Given the description of an element on the screen output the (x, y) to click on. 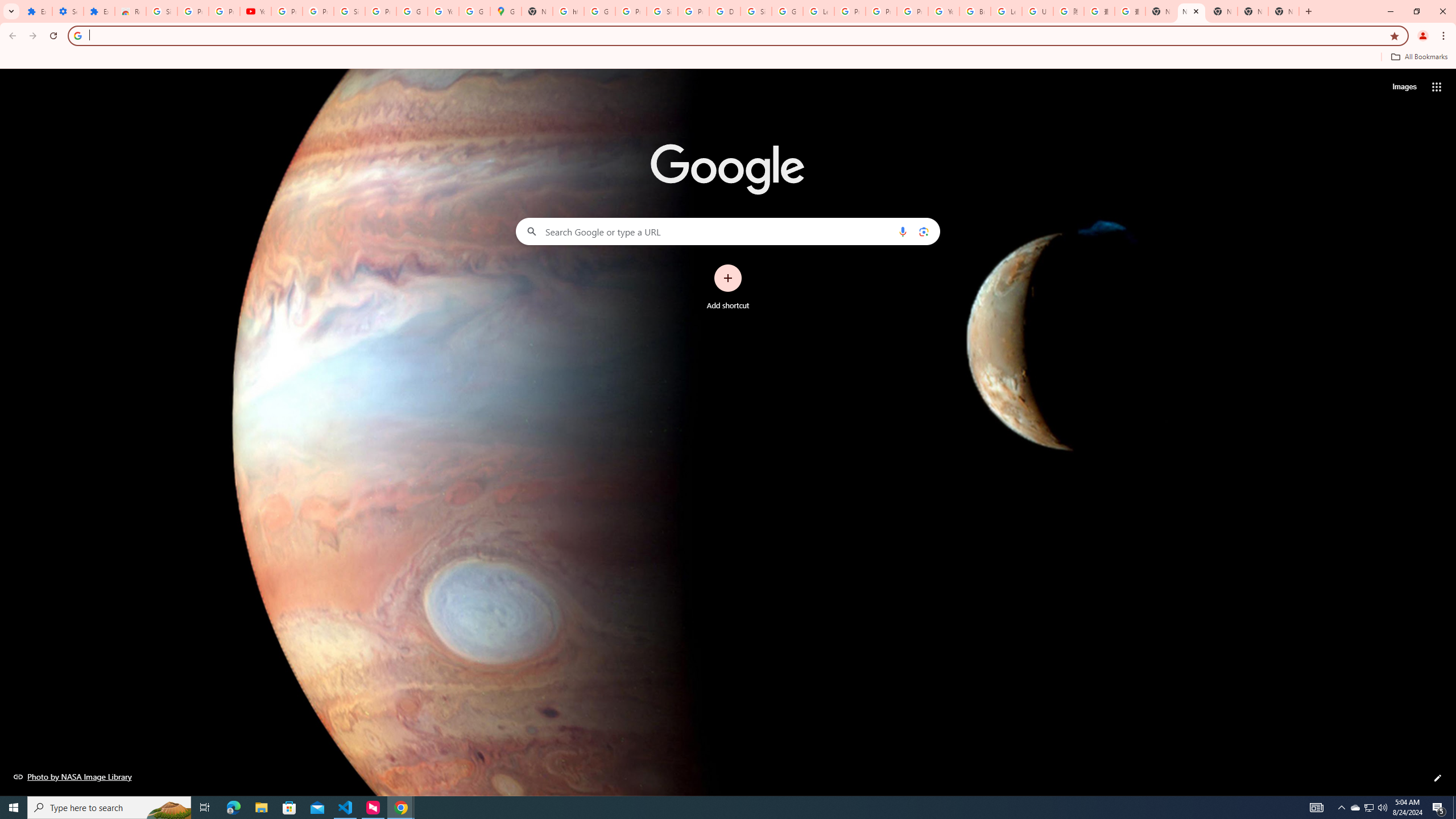
New Tab (1160, 11)
Sign in - Google Accounts (756, 11)
YouTube (943, 11)
Customize this page (1437, 778)
Google Maps (505, 11)
